Given the description of an element on the screen output the (x, y) to click on. 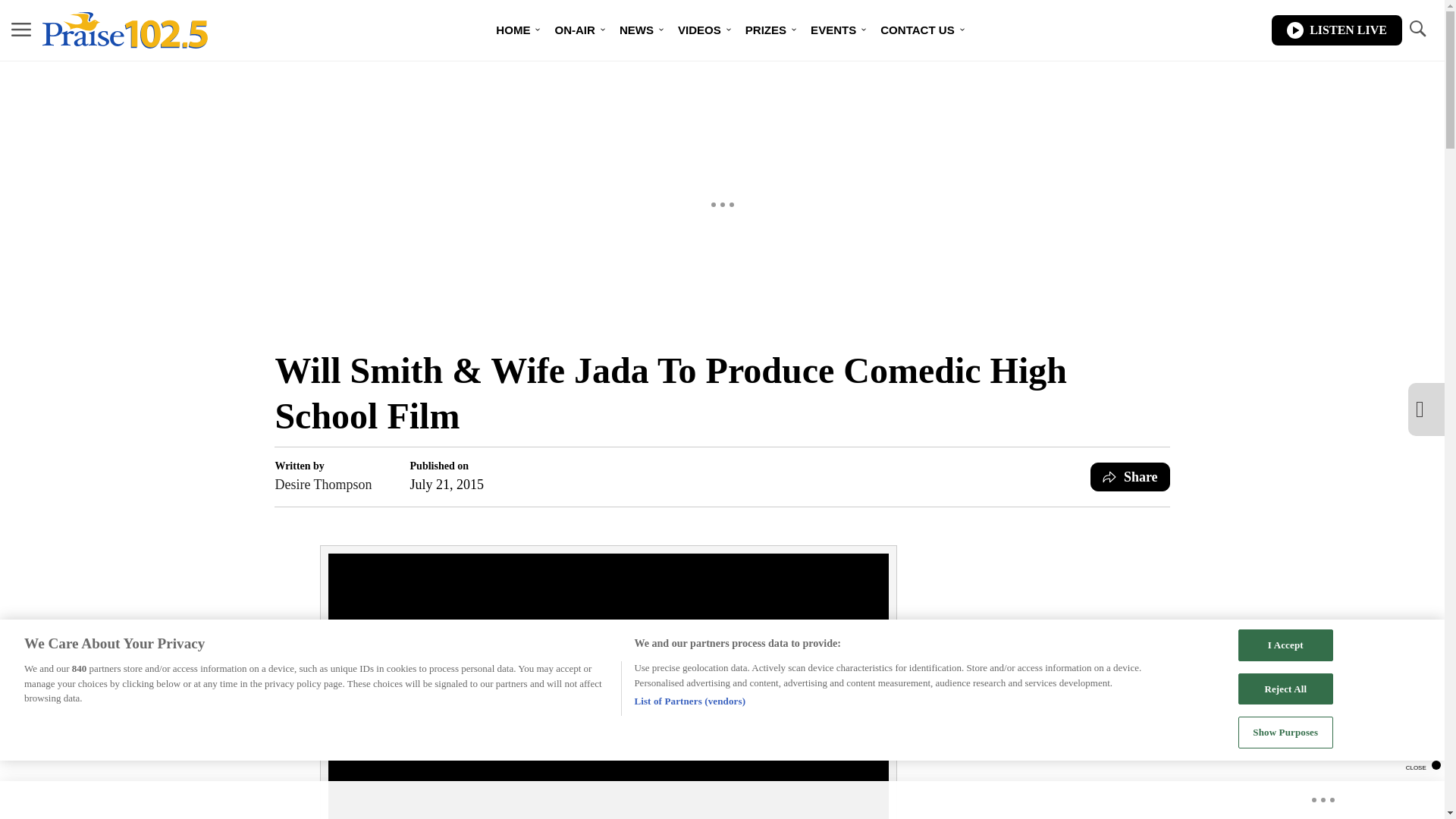
TOGGLE SEARCH (1417, 30)
PRIZES (765, 30)
TOGGLE SEARCH (1417, 28)
MENU (20, 30)
MENU (20, 29)
VIDEOS (699, 30)
EVENTS (832, 30)
ON-AIR (574, 30)
NEWS (636, 30)
LISTEN LIVE (1336, 30)
HOME (512, 30)
CONTACT US (916, 30)
